Given the description of an element on the screen output the (x, y) to click on. 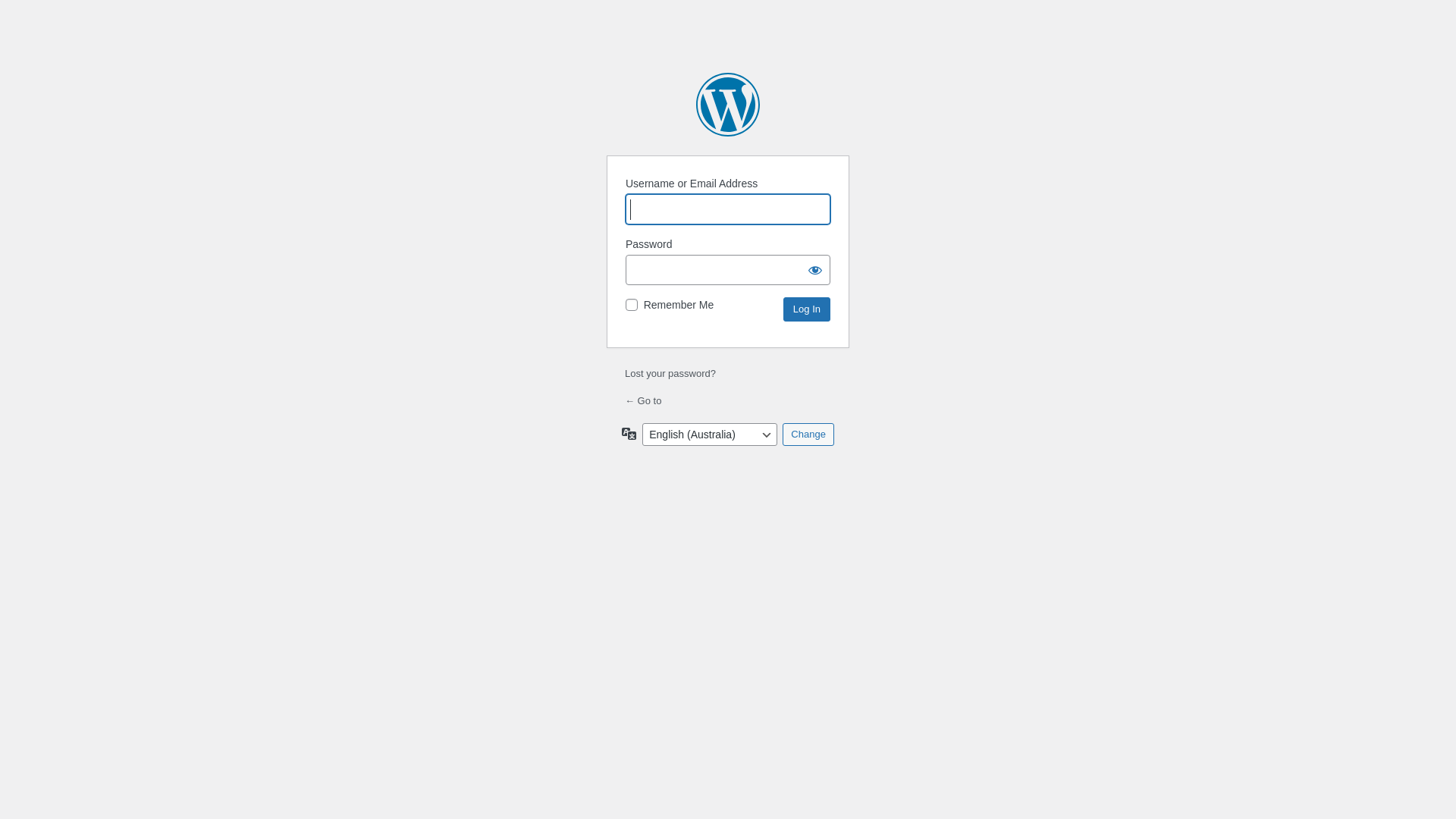
Powered by WordPress Element type: text (727, 104)
Change Element type: text (808, 434)
Log In Element type: text (806, 309)
Lost your password? Element type: text (669, 373)
